Given the description of an element on the screen output the (x, y) to click on. 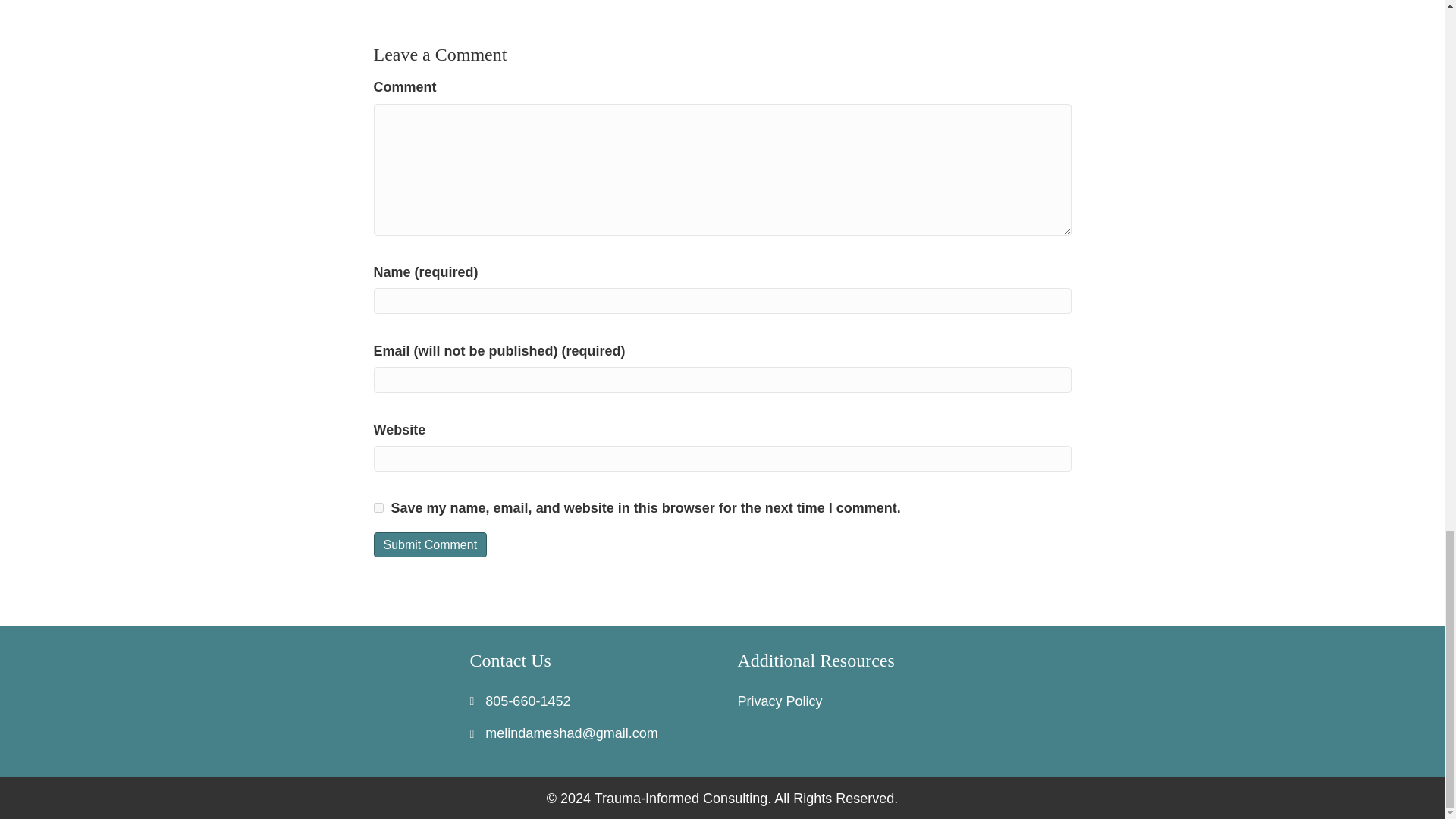
805-660-1452 (527, 701)
Submit Comment (429, 544)
yes (377, 507)
Submit Comment (429, 544)
